Given the description of an element on the screen output the (x, y) to click on. 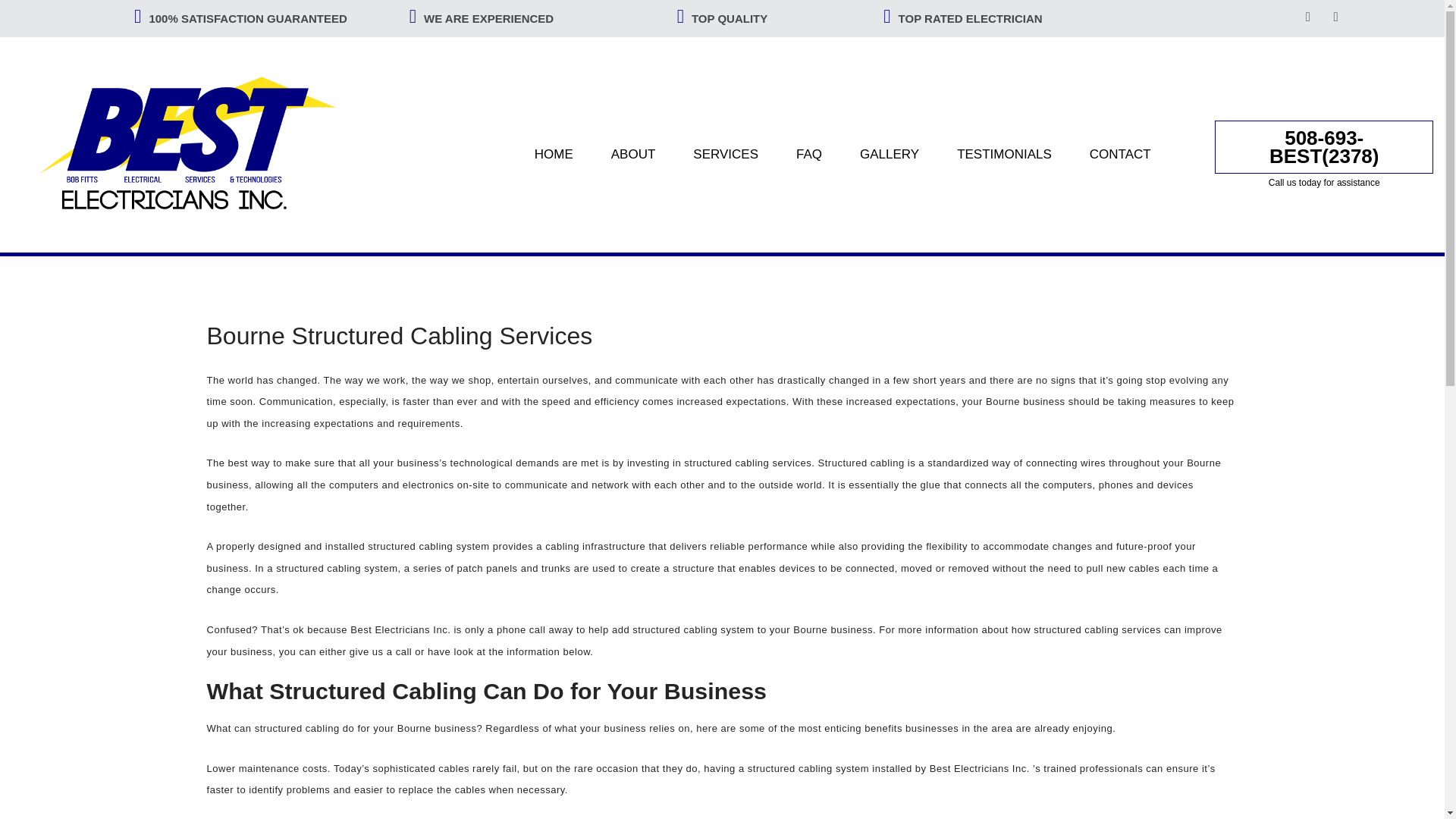
Find us on Google Maps (1336, 16)
Connect with Facebook (1310, 16)
HOME (553, 153)
TESTIMONIALS (1003, 153)
FAQ (808, 153)
GALLERY (889, 153)
Best Electricians Inc. Logo (196, 144)
ABOUT (632, 153)
SERVICES (725, 153)
